Given the description of an element on the screen output the (x, y) to click on. 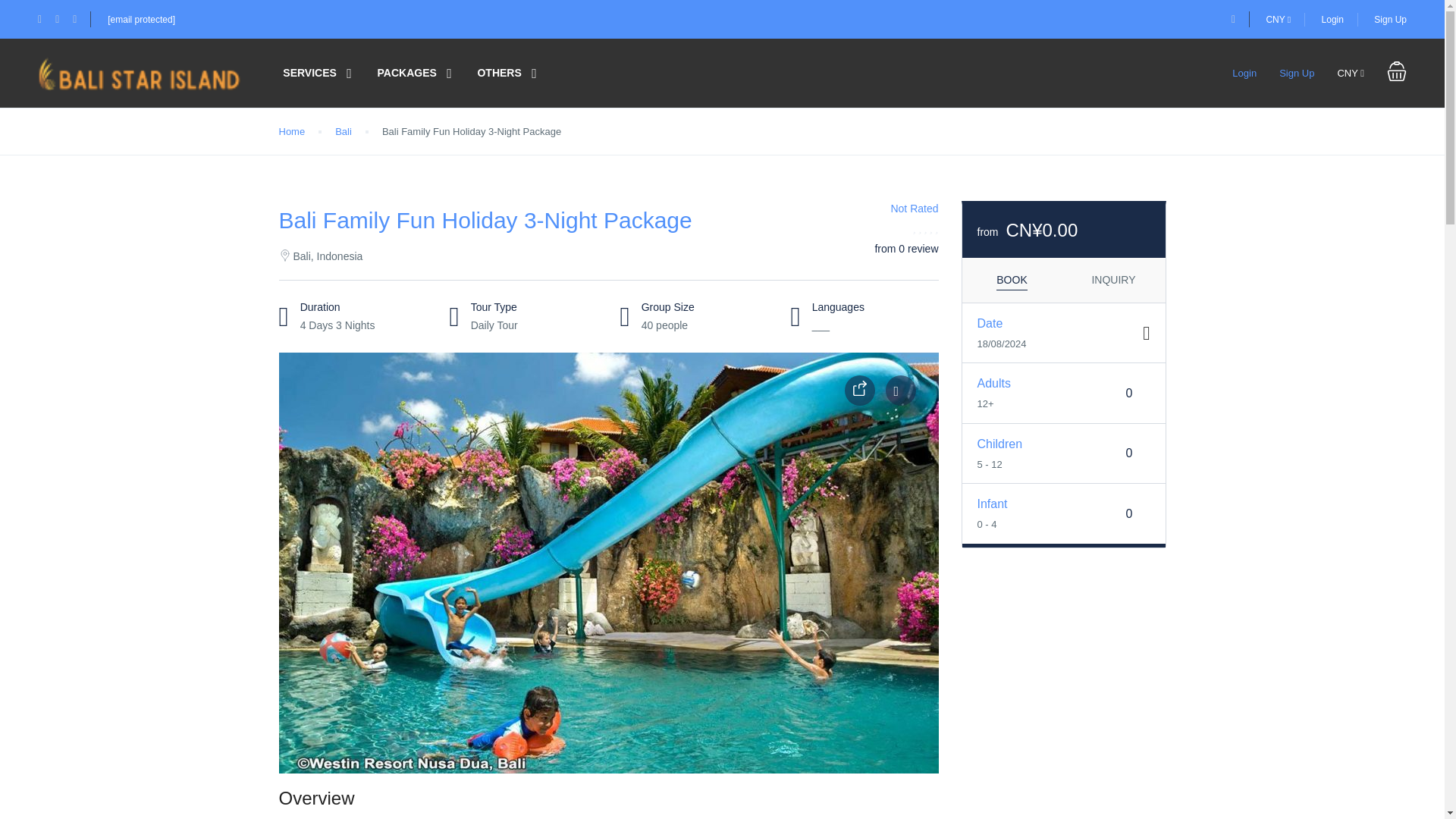
Sign Up (1296, 72)
Login (1243, 72)
CNY (1277, 19)
0 (1129, 453)
PACKAGES (406, 72)
Login (1332, 19)
OTHERS (499, 72)
0 (1129, 514)
SERVICES (309, 72)
0 (1129, 393)
